Given the description of an element on the screen output the (x, y) to click on. 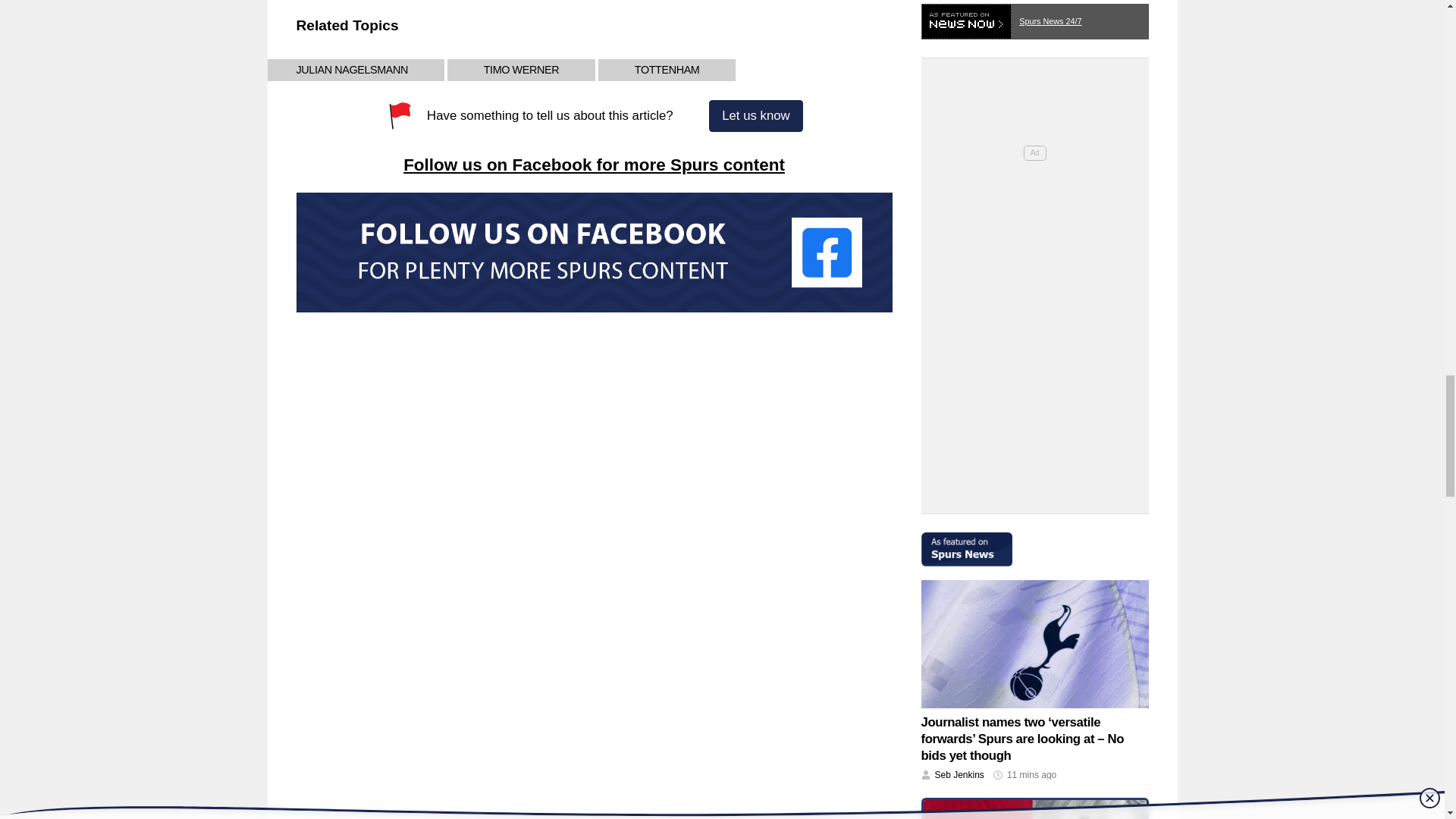
JULIAN NAGELSMANN (351, 69)
TIMO WERNER (520, 69)
TOTTENHAM (667, 69)
